Given the description of an element on the screen output the (x, y) to click on. 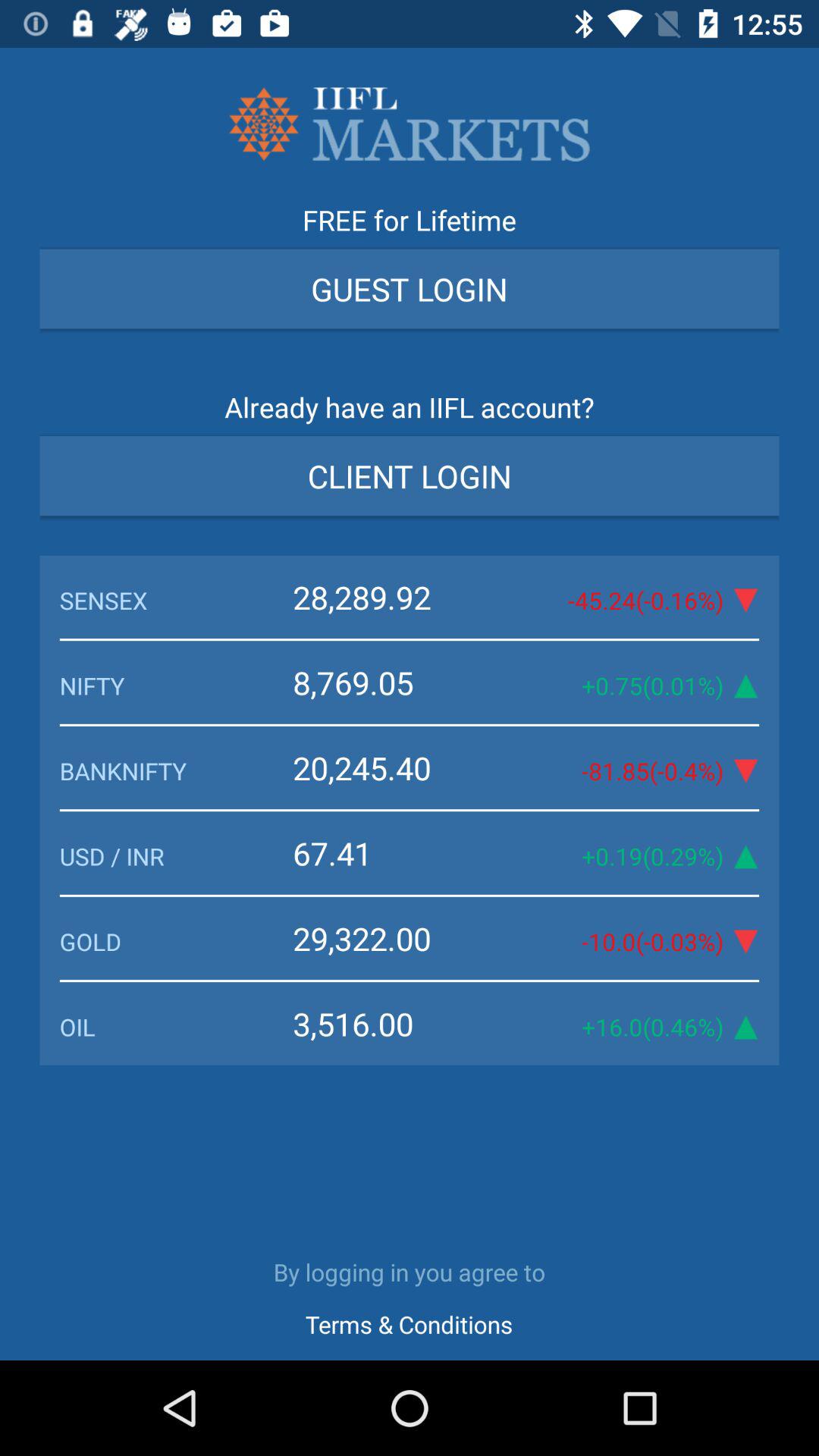
tap icon below the 67.41 icon (175, 941)
